Given the description of an element on the screen output the (x, y) to click on. 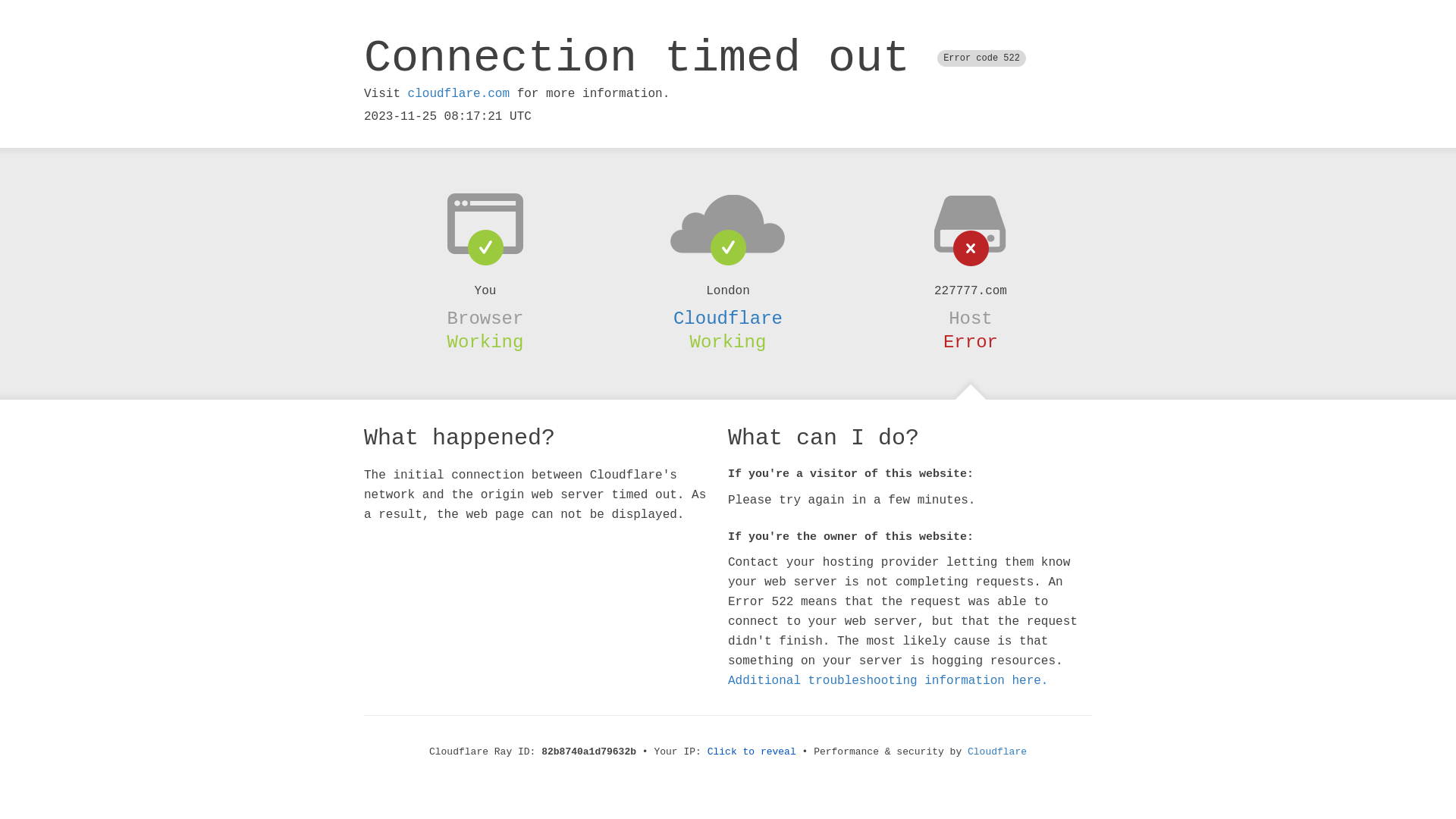
Cloudflare Element type: text (727, 318)
Click to reveal Element type: text (751, 751)
Cloudflare Element type: text (996, 751)
cloudflare.com Element type: text (458, 93)
Additional troubleshooting information here. Element type: text (888, 680)
